Given the description of an element on the screen output the (x, y) to click on. 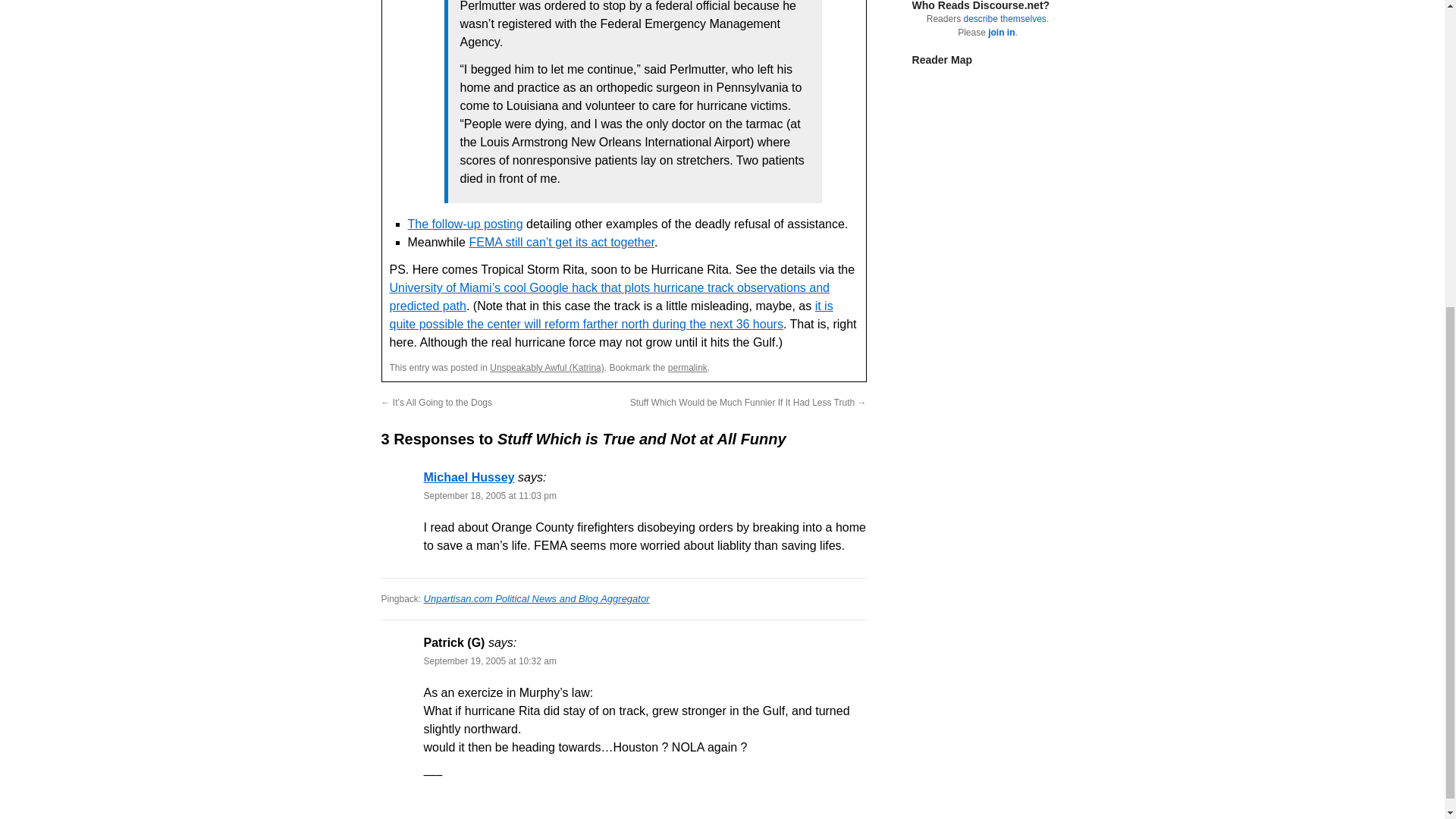
The follow-up posting (464, 223)
Unpartisan.com Political News and Blog Aggregator (536, 598)
Permalink to Stuff Which is True and Not at All Funny (687, 367)
Michael Hussey (468, 477)
September 19, 2005 at 10:32 am (489, 661)
permalink (687, 367)
September 18, 2005 at 11:03 pm (489, 495)
describe themselves (1003, 18)
join in (1001, 32)
